Given the description of an element on the screen output the (x, y) to click on. 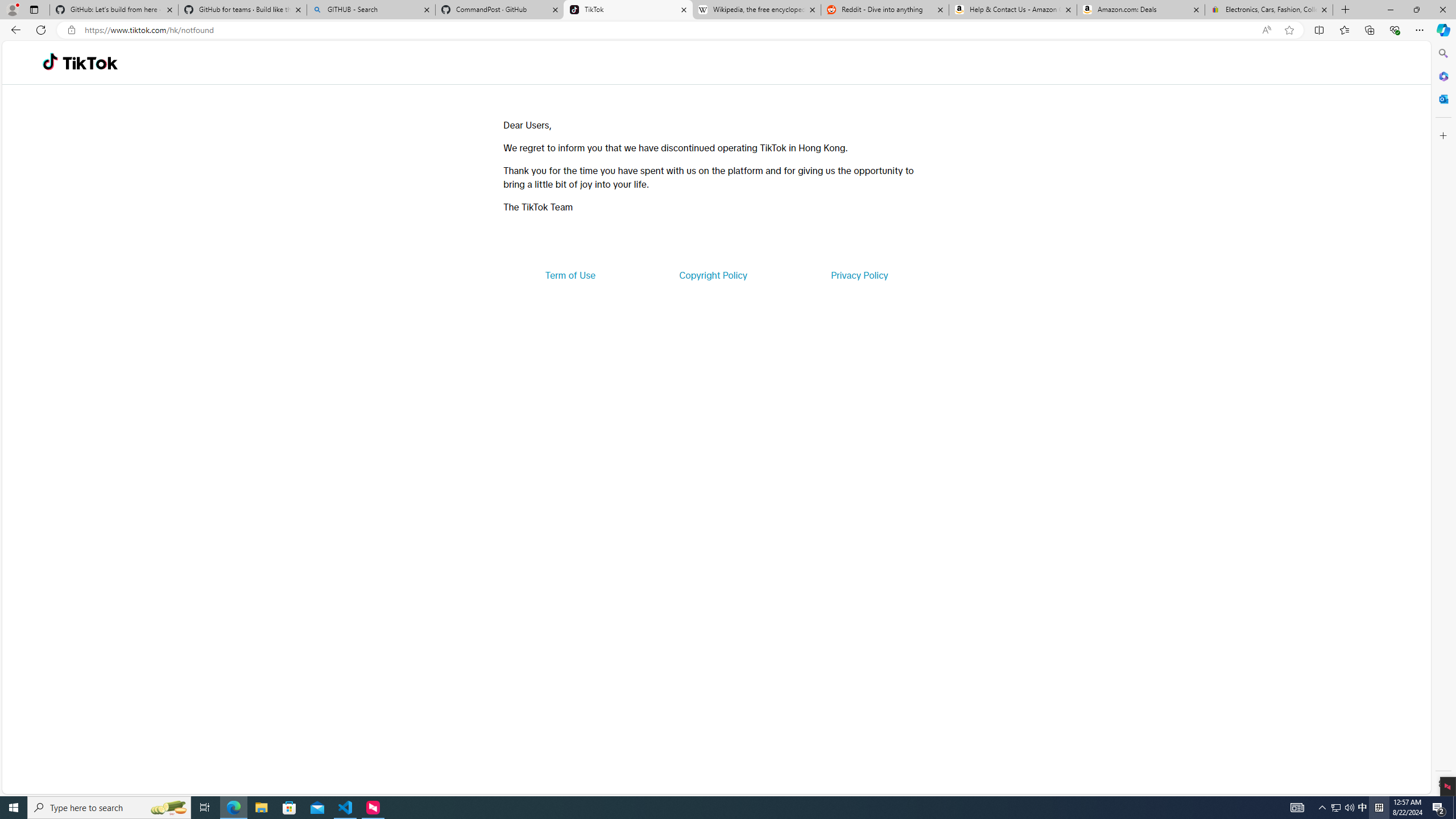
Term of Use (569, 274)
Wikipedia, the free encyclopedia (756, 9)
